Given the description of an element on the screen output the (x, y) to click on. 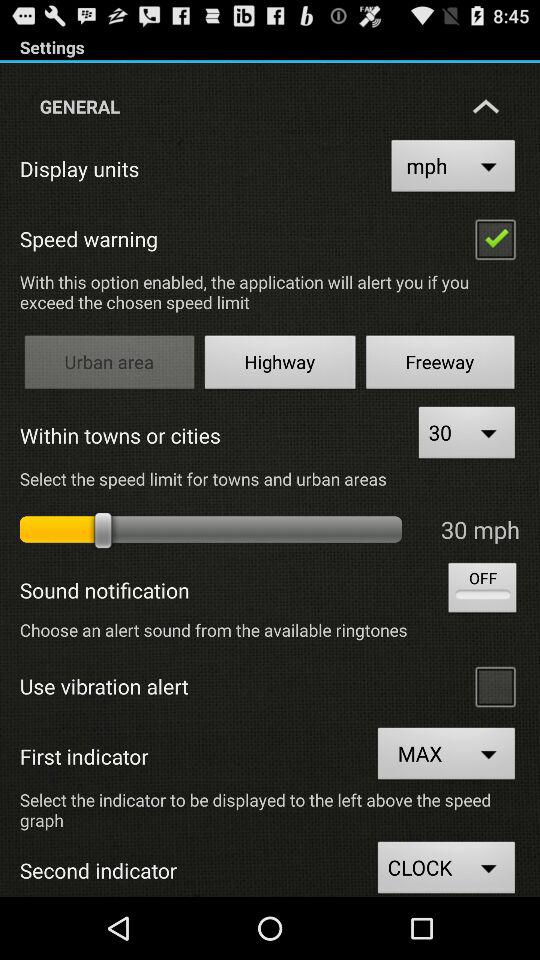
click on the arrow icon which is next to general (485, 106)
click on the check mark which is right to the speed warning (494, 238)
tap on freeway (440, 365)
